Given the description of an element on the screen output the (x, y) to click on. 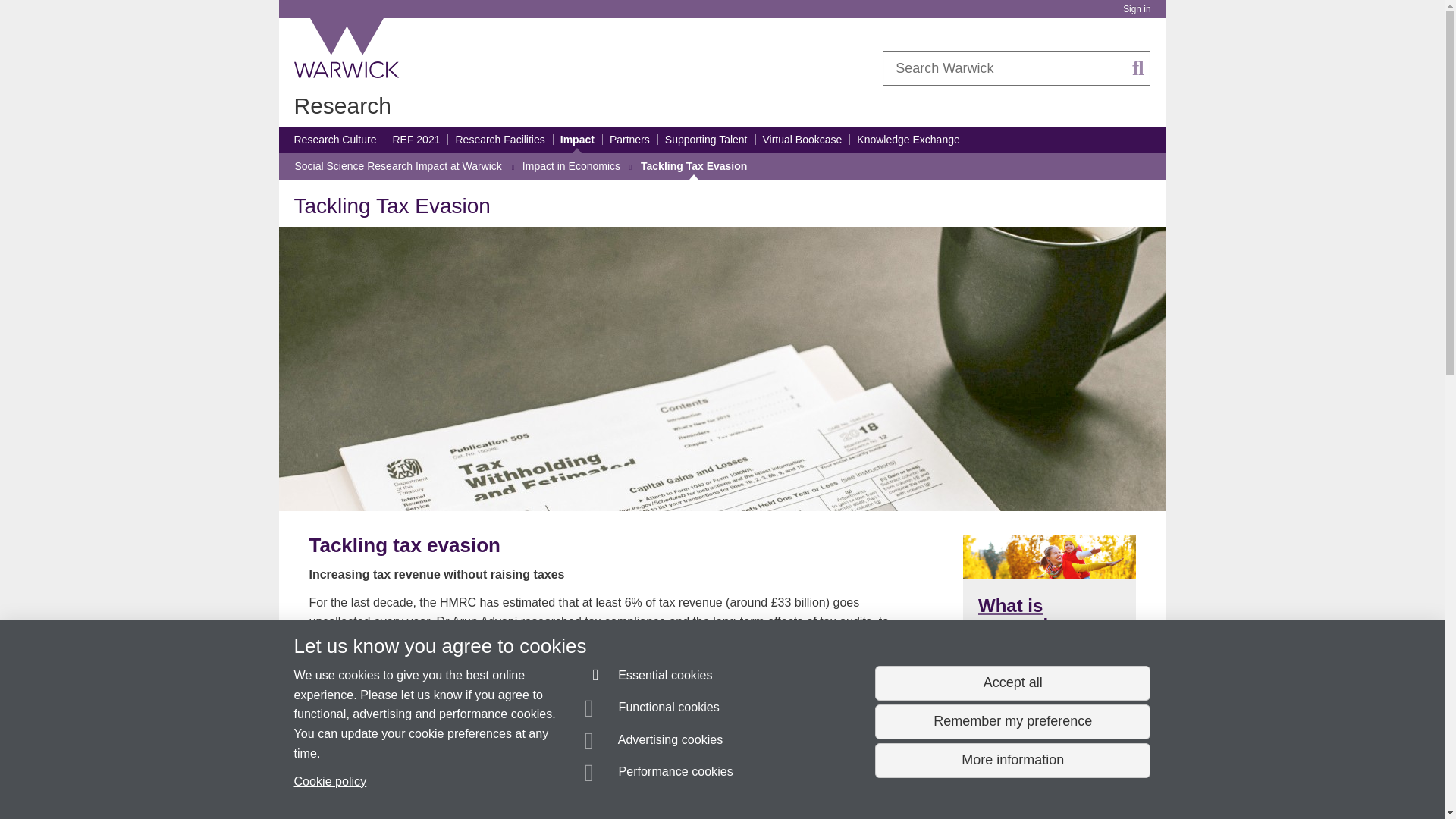
Impact (577, 139)
University of Warwick homepage (346, 48)
Social Science Research Impact at Warwick (397, 166)
Partners (629, 139)
Research (342, 105)
Sign in (1136, 9)
Essential cookies are always on (649, 677)
Virtual Bookcase (802, 139)
